Given the description of an element on the screen output the (x, y) to click on. 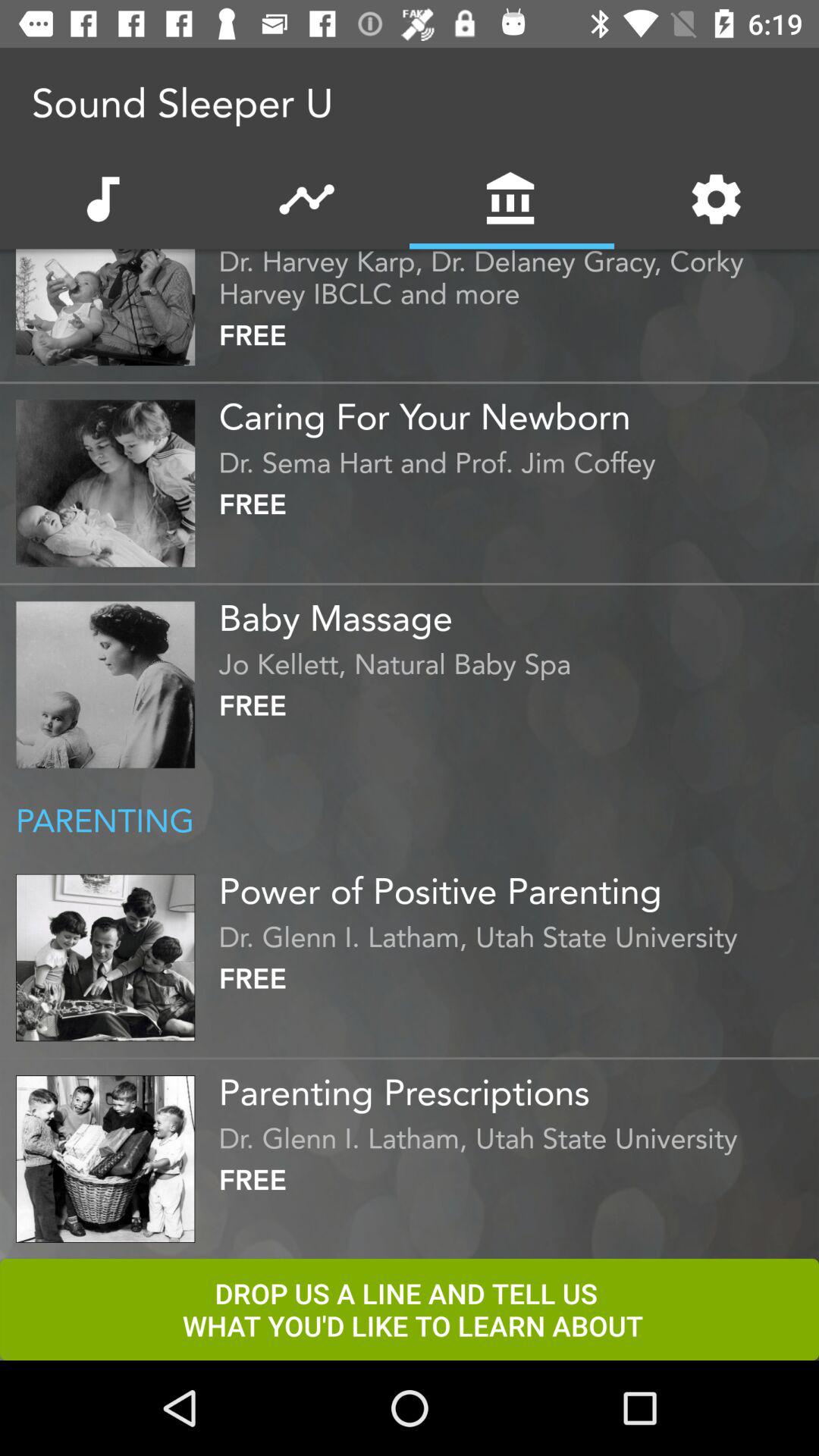
open icon below the baby massage icon (515, 659)
